Given the description of an element on the screen output the (x, y) to click on. 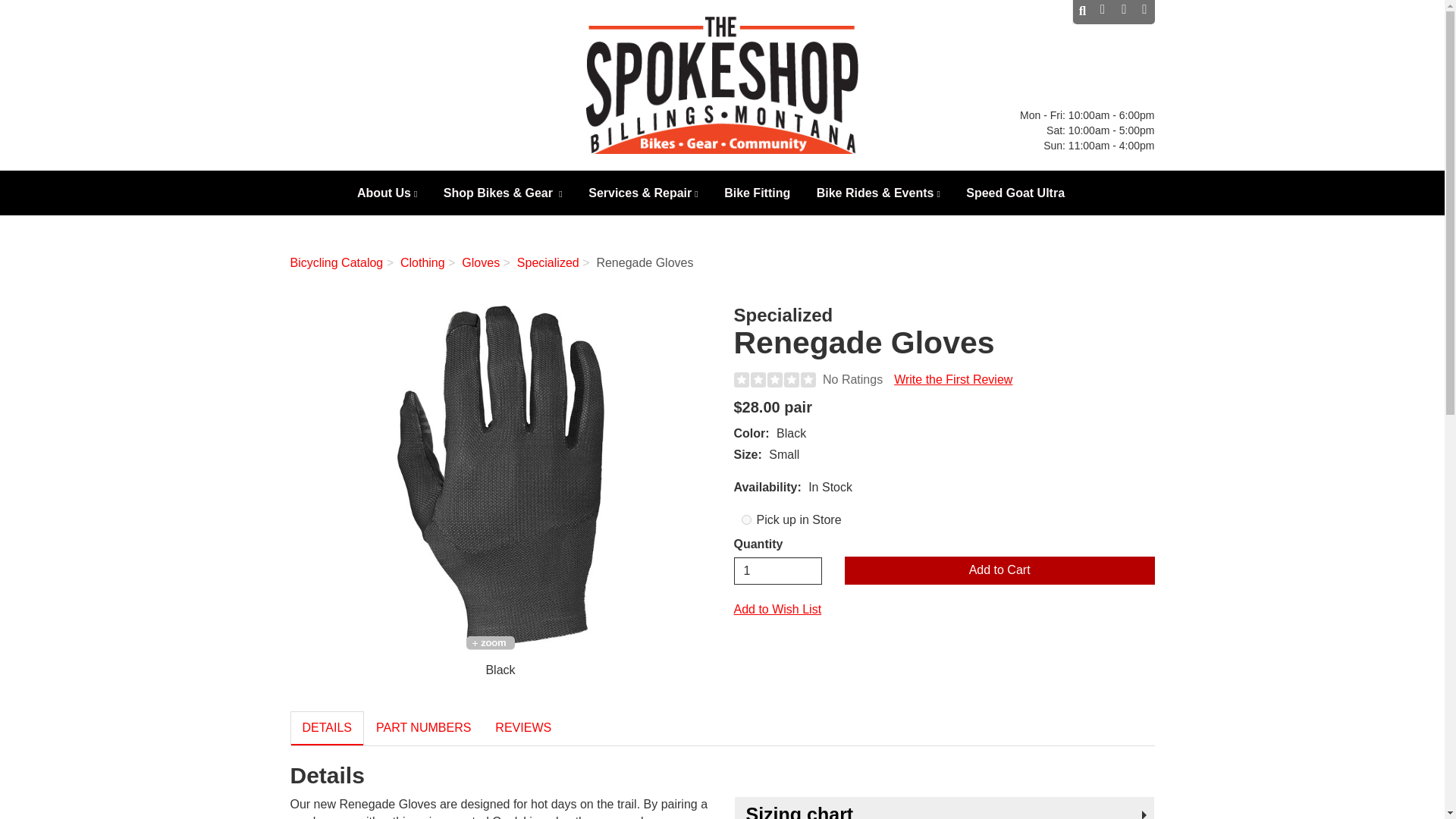
About Us (387, 196)
on (746, 519)
The Spoke Shop Home Page (722, 84)
1 (777, 570)
